Given the description of an element on the screen output the (x, y) to click on. 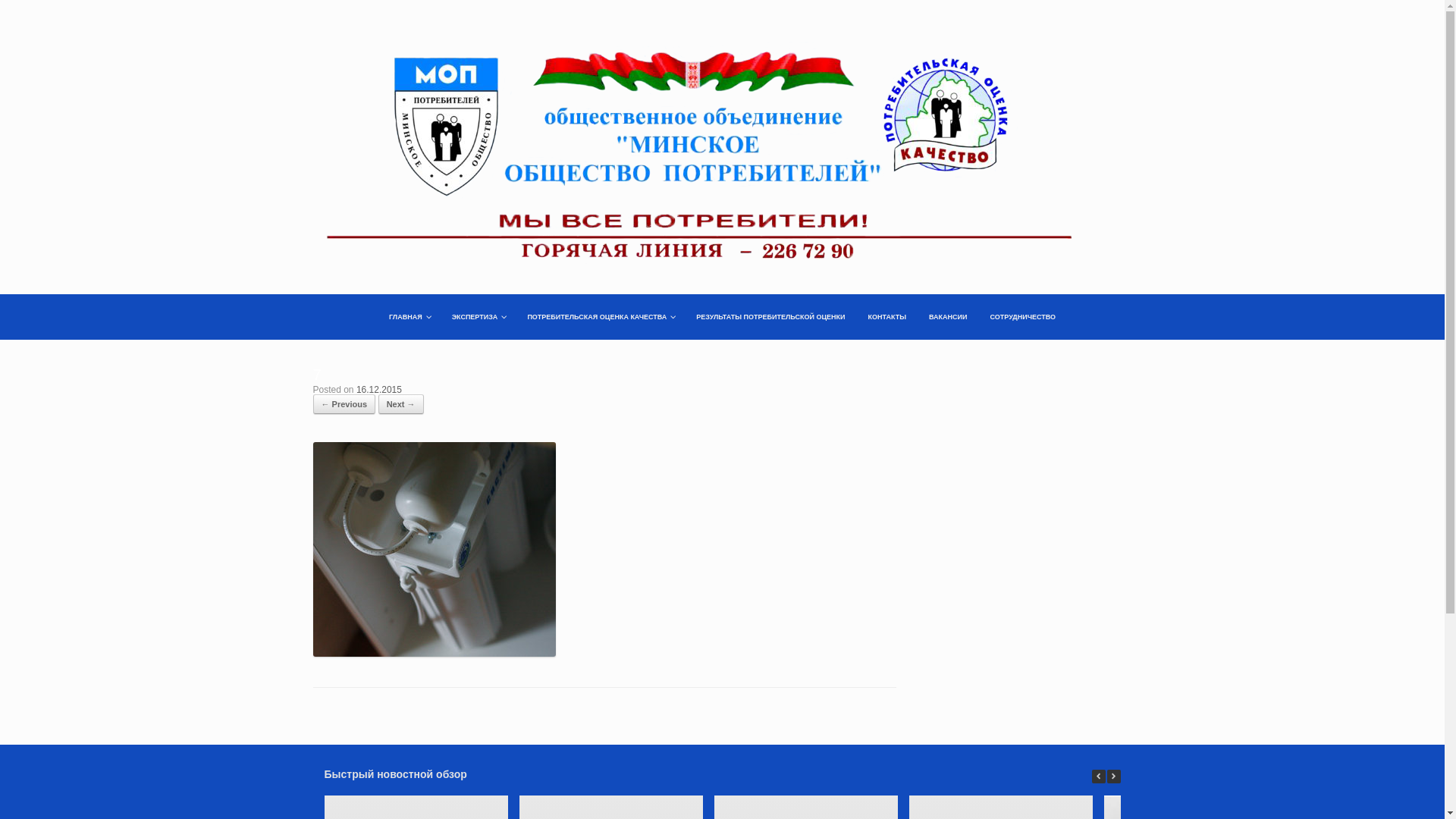
16.12.2015 Element type: text (378, 389)
7 Element type: hover (433, 547)
Skip to content Element type: text (346, 302)
